Given the description of an element on the screen output the (x, y) to click on. 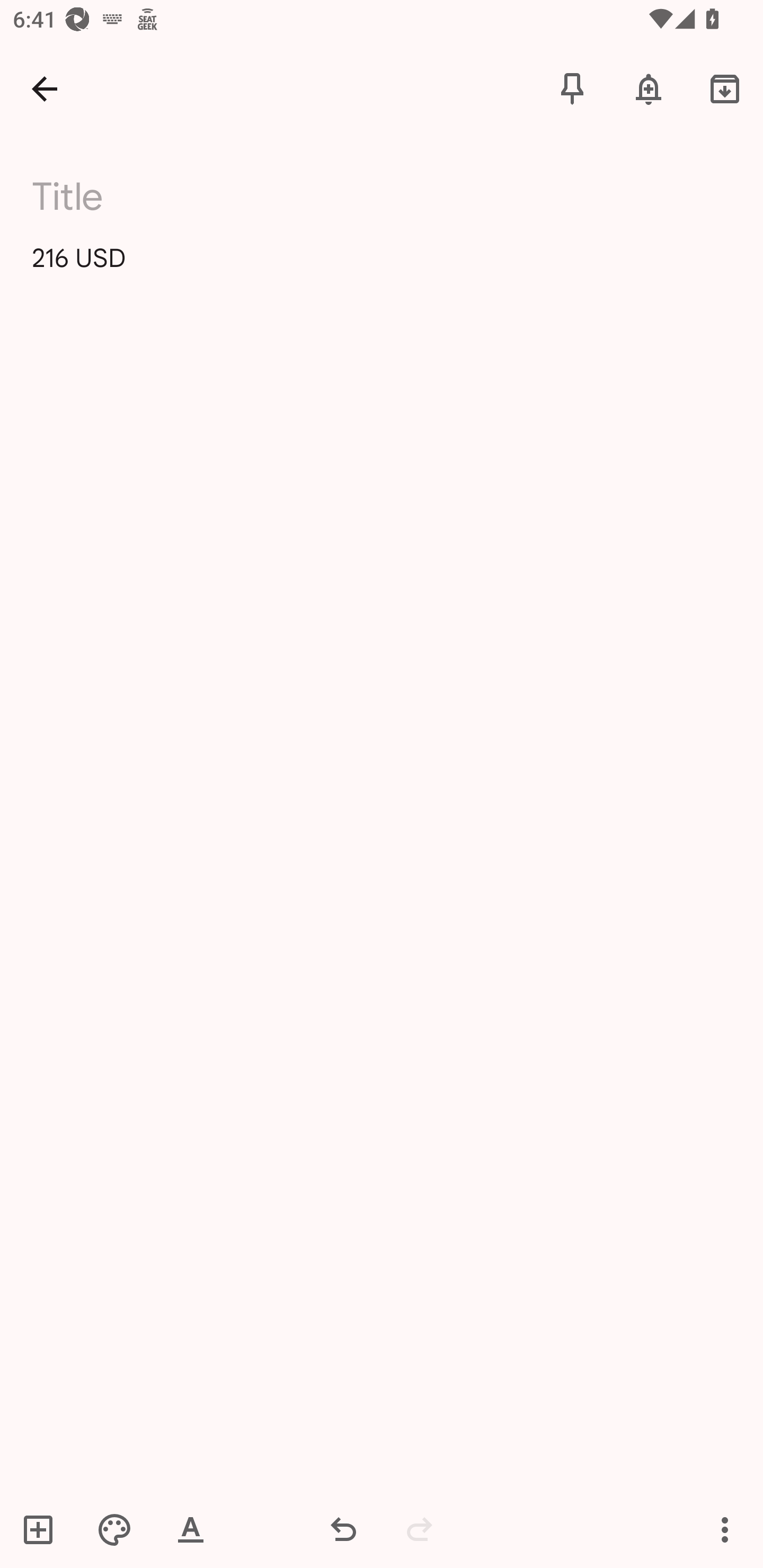
Navigate up (44, 88)
Pin (572, 88)
Reminder (648, 88)
Archive (724, 88)
216 USD.  216 USD (193, 195)
216 USD (381, 273)
New list (44, 1529)
Theme (114, 1529)
Show formatting controls (190, 1529)
Undo (343, 1529)
Redo (419, 1529)
Action (724, 1529)
